Given the description of an element on the screen output the (x, y) to click on. 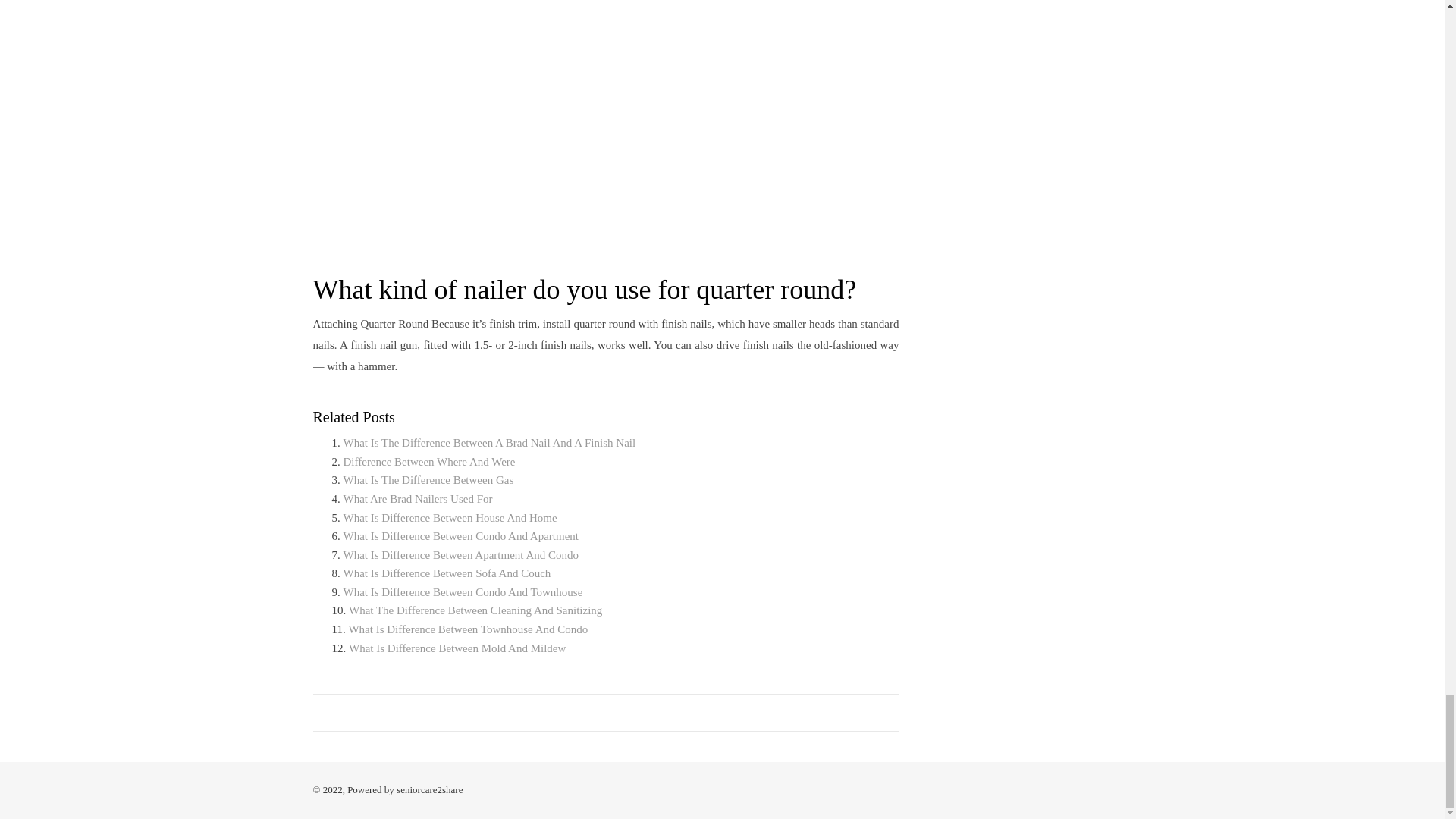
What Are Brad Nailers Used For (417, 499)
What Is The Difference Between Gas (427, 480)
What Is The Difference Between A Brad Nail And A Finish Nail (488, 442)
What Is Difference Between House And Home (449, 517)
Difference Between Where And Were (428, 461)
